Given the description of an element on the screen output the (x, y) to click on. 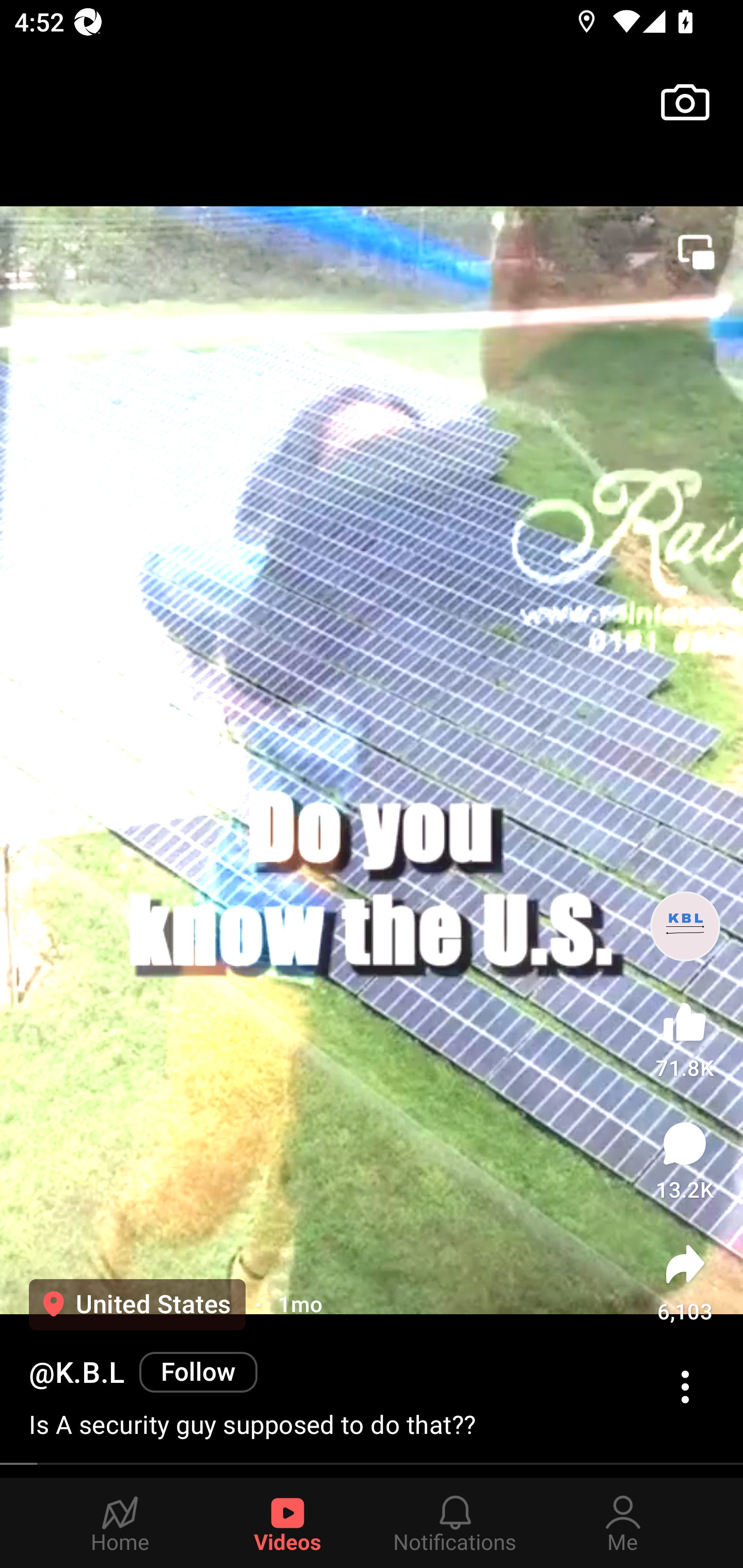
71.8K (684, 1035)
13.2K (685, 1160)
6,103 (685, 1282)
United States (136, 1304)
Follow (198, 1371)
@K.B.L (76, 1373)
Home (119, 1522)
Notifications (455, 1522)
Me (622, 1522)
